Given the description of an element on the screen output the (x, y) to click on. 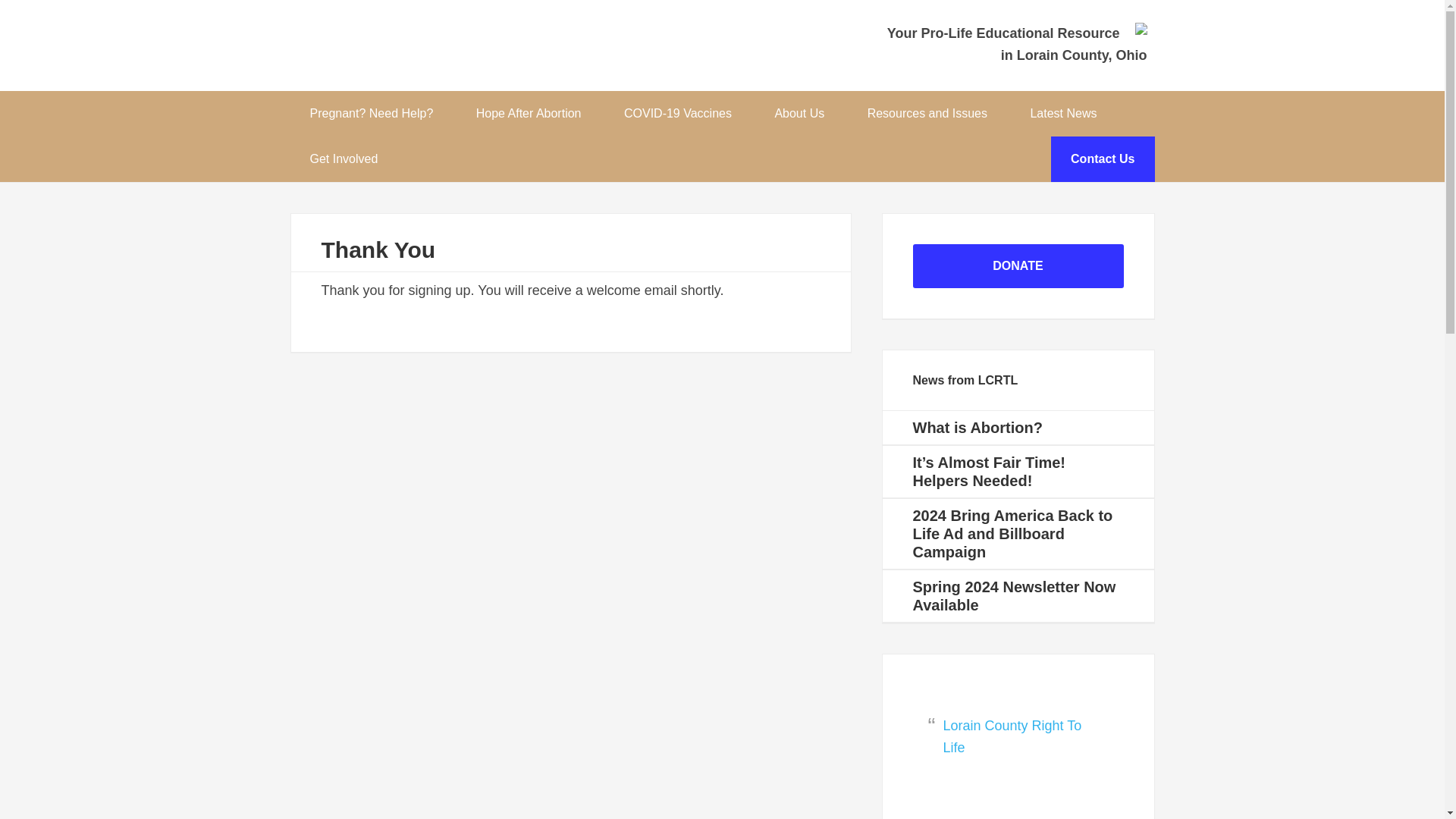
Get Involved (343, 159)
Latest News (1062, 113)
Hope After Abortion (529, 113)
What is Abortion? (977, 427)
Lorain County Right To Life (418, 52)
DONATE (1018, 266)
2024 Bring America Back to Life Ad and Billboard Campaign (1012, 533)
Pregnant? Need Help? (370, 113)
Spring 2024 Newsletter Now Available (1014, 595)
COVID-19 Vaccines (677, 113)
About Us (799, 113)
Lorain County Right To Life (1012, 736)
Resources and Issues (927, 113)
Contact Us (1102, 159)
